Given the description of an element on the screen output the (x, y) to click on. 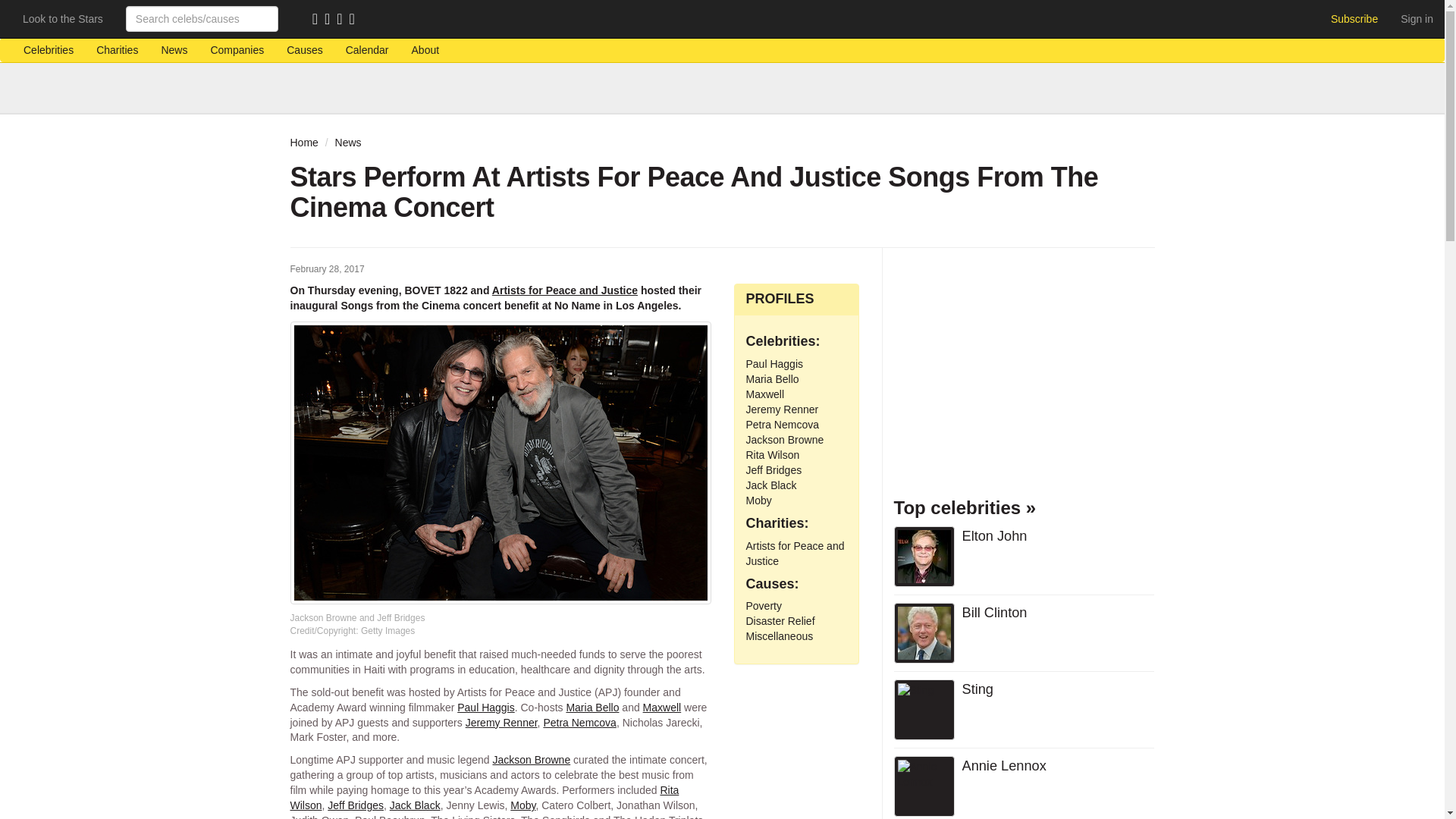
Charitable areas of interest (304, 49)
Paul Haggis (486, 707)
Follow us on Twitter (342, 20)
Maria Bello (592, 707)
Petra Nemcova (579, 721)
Mailing list (330, 20)
Subscribe to our feed (318, 20)
Jack Black (415, 805)
Calendar (367, 49)
2396 charities with celebrity supporters (116, 49)
